Given the description of an element on the screen output the (x, y) to click on. 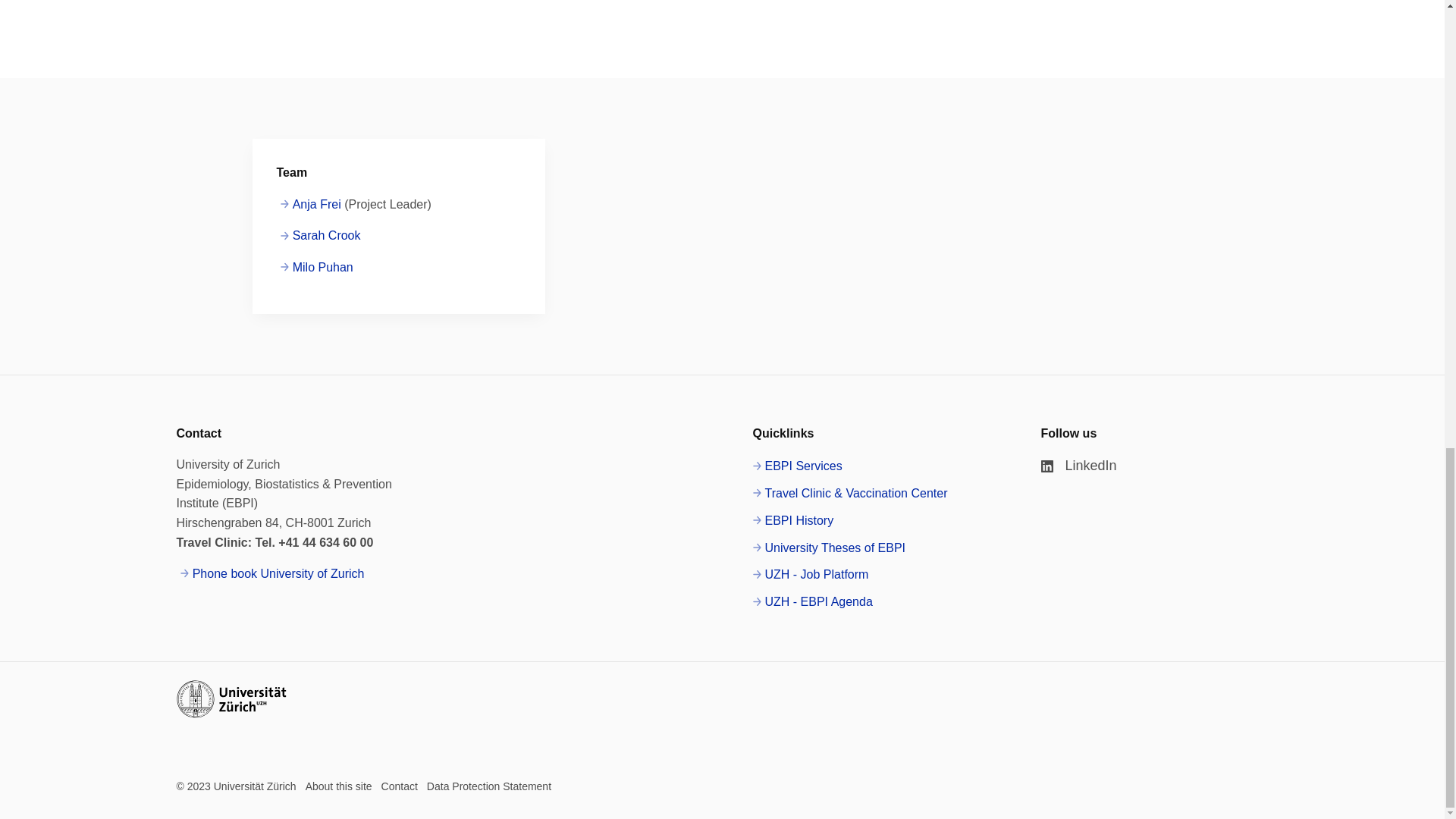
UZH - EBPI Agenda (812, 601)
EBPI Services (796, 465)
EBPI History (792, 520)
University Theses of EBPI (828, 547)
UZH - Job Platform (809, 574)
